Given the description of an element on the screen output the (x, y) to click on. 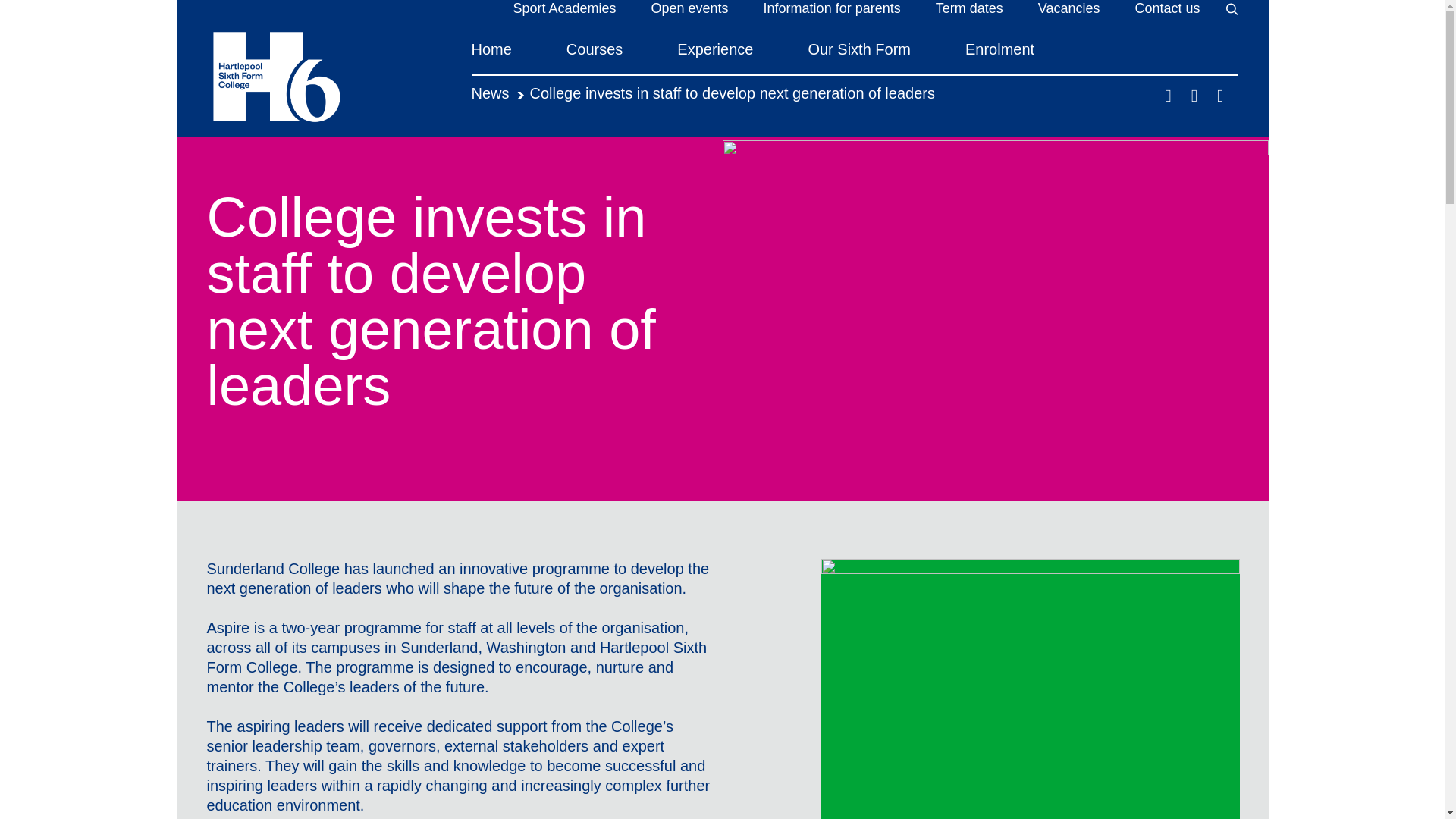
Courses (594, 58)
Sport Academies (563, 8)
Home (491, 58)
Information for parents (831, 8)
Open events (689, 8)
Experience (714, 58)
Term dates (969, 8)
